Given the description of an element on the screen output the (x, y) to click on. 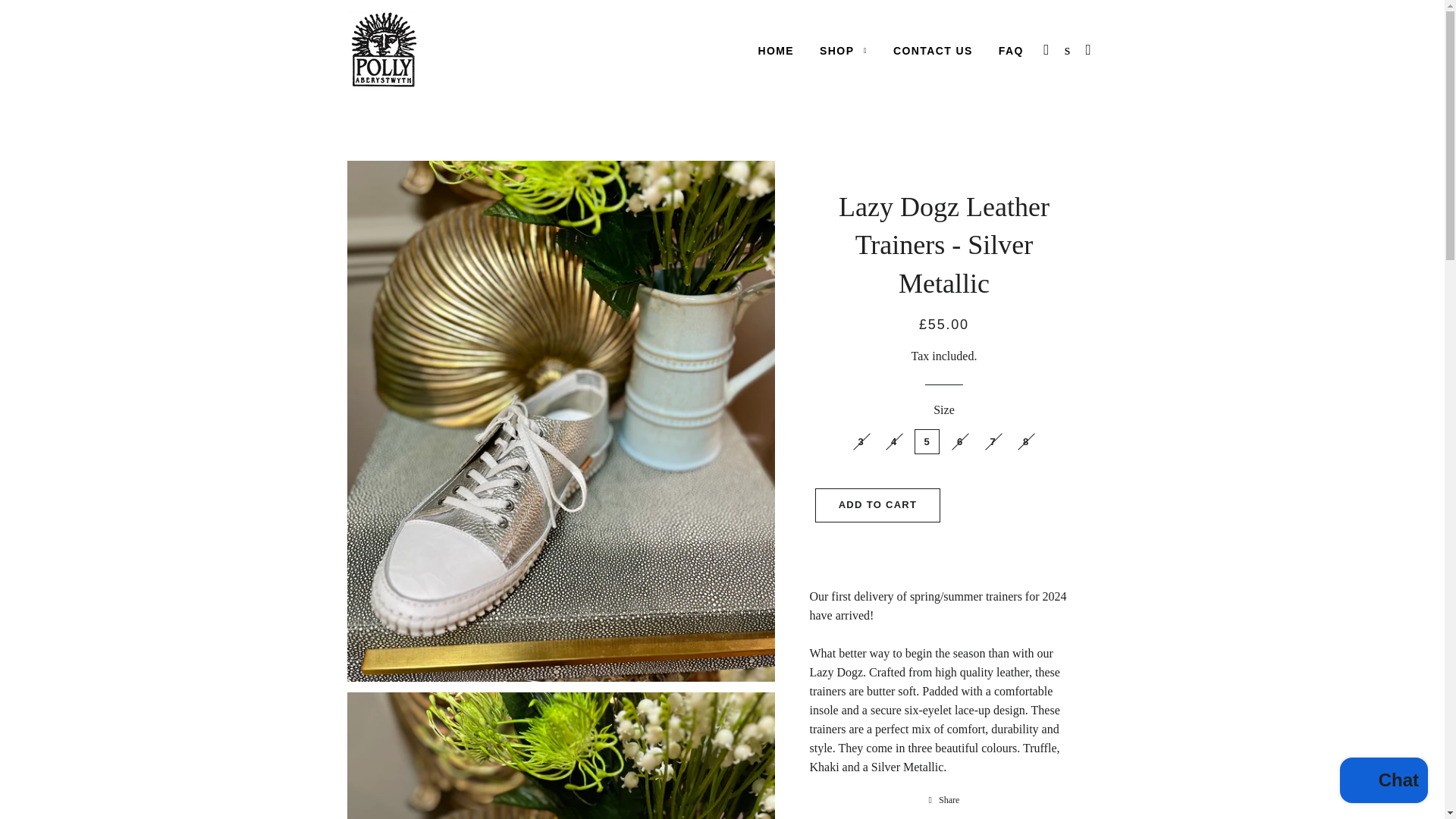
Share on Facebook (944, 799)
Shopify online store chat (1383, 781)
SHOP (843, 51)
HOME (775, 51)
